Given the description of an element on the screen output the (x, y) to click on. 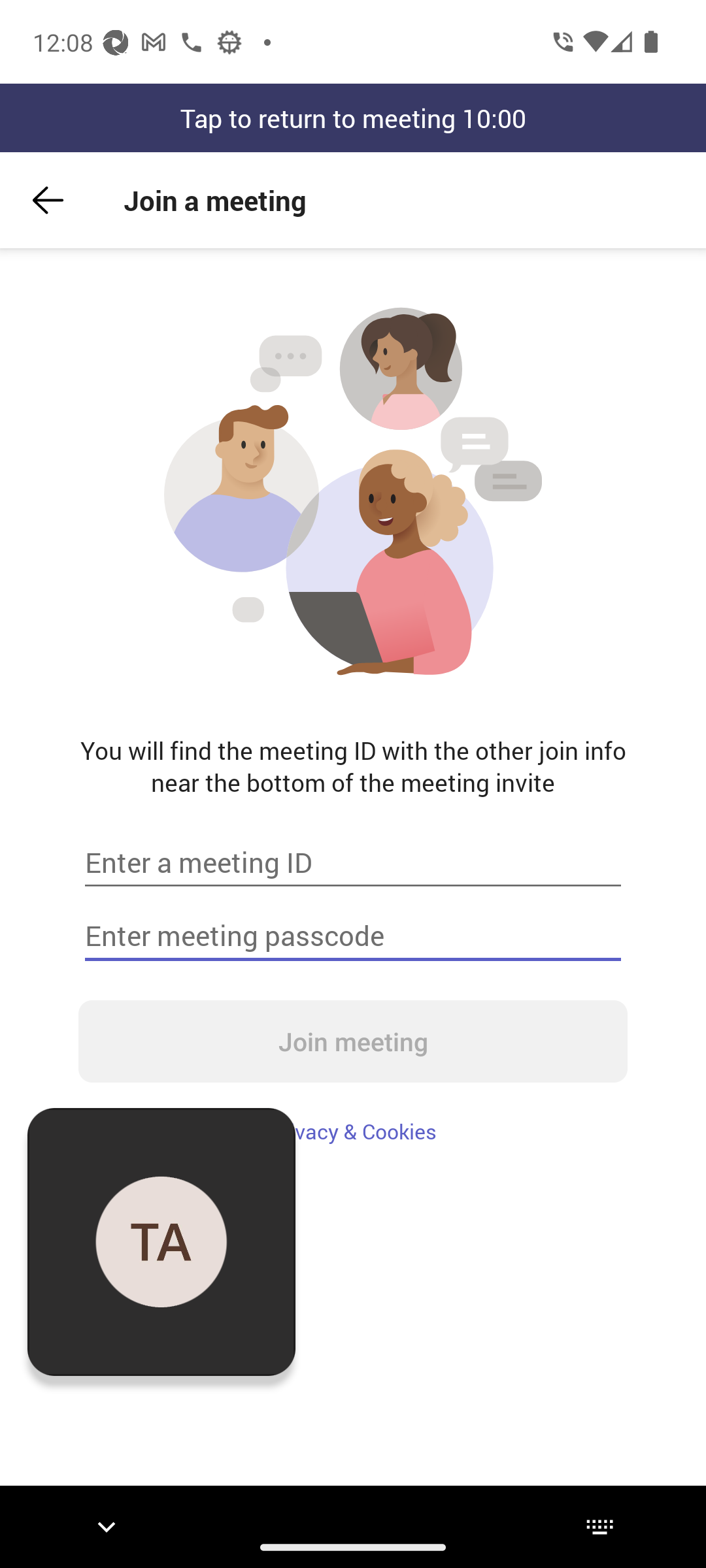
Tap to return to meeting 10:00 (353, 117)
Back (48, 199)
Enter a meeting ID (352, 863)
Enter meeting passcode (352, 936)
Join meeting (352, 1040)
